Given the description of an element on the screen output the (x, y) to click on. 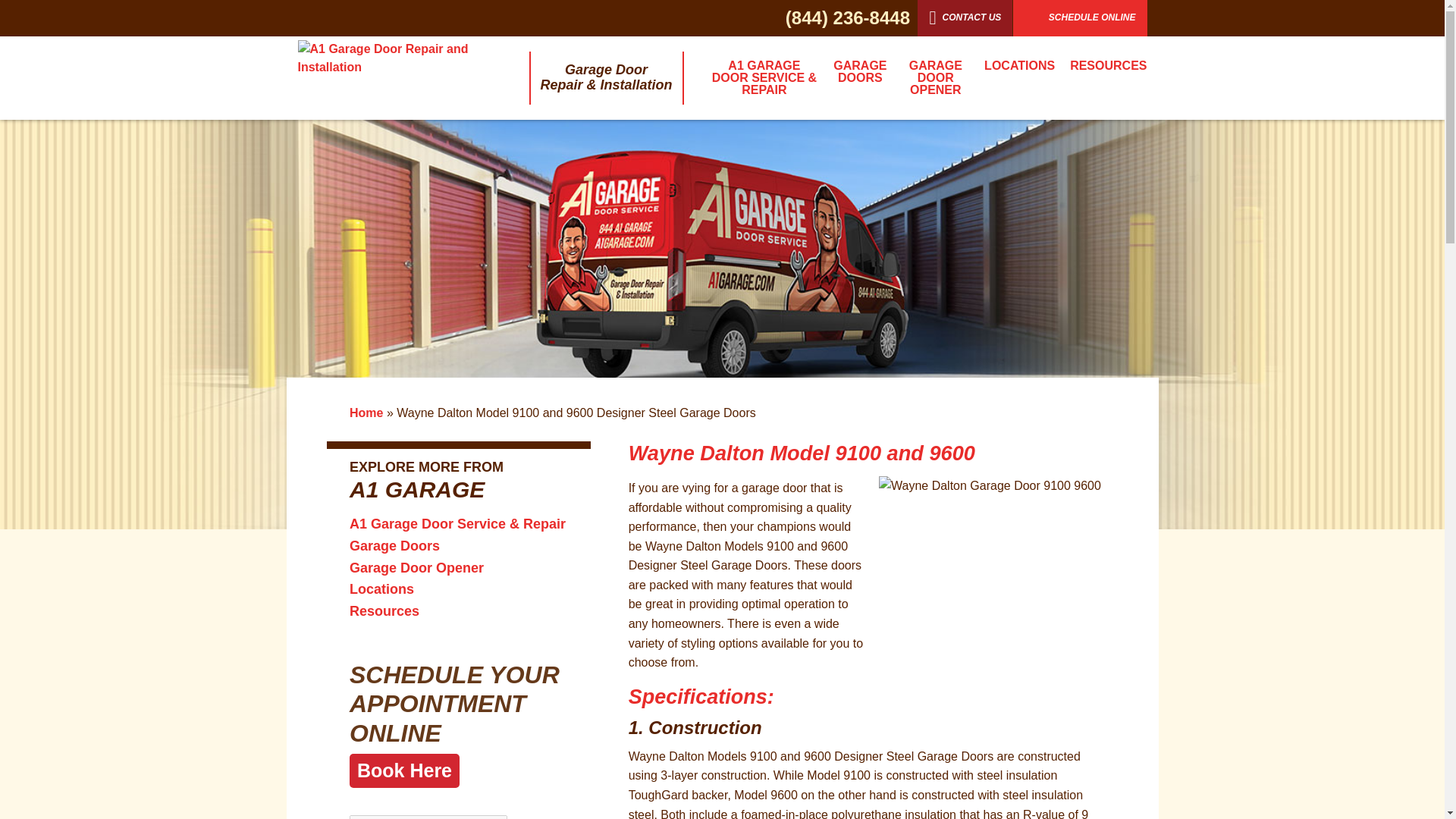
LOCATIONS (1019, 65)
GARAGE DOOR OPENER (935, 77)
SCHEDULE ONLINE (1080, 18)
GARAGE DOORS (859, 71)
RESOURCES (1104, 65)
CONTACT US (964, 18)
